Given the description of an element on the screen output the (x, y) to click on. 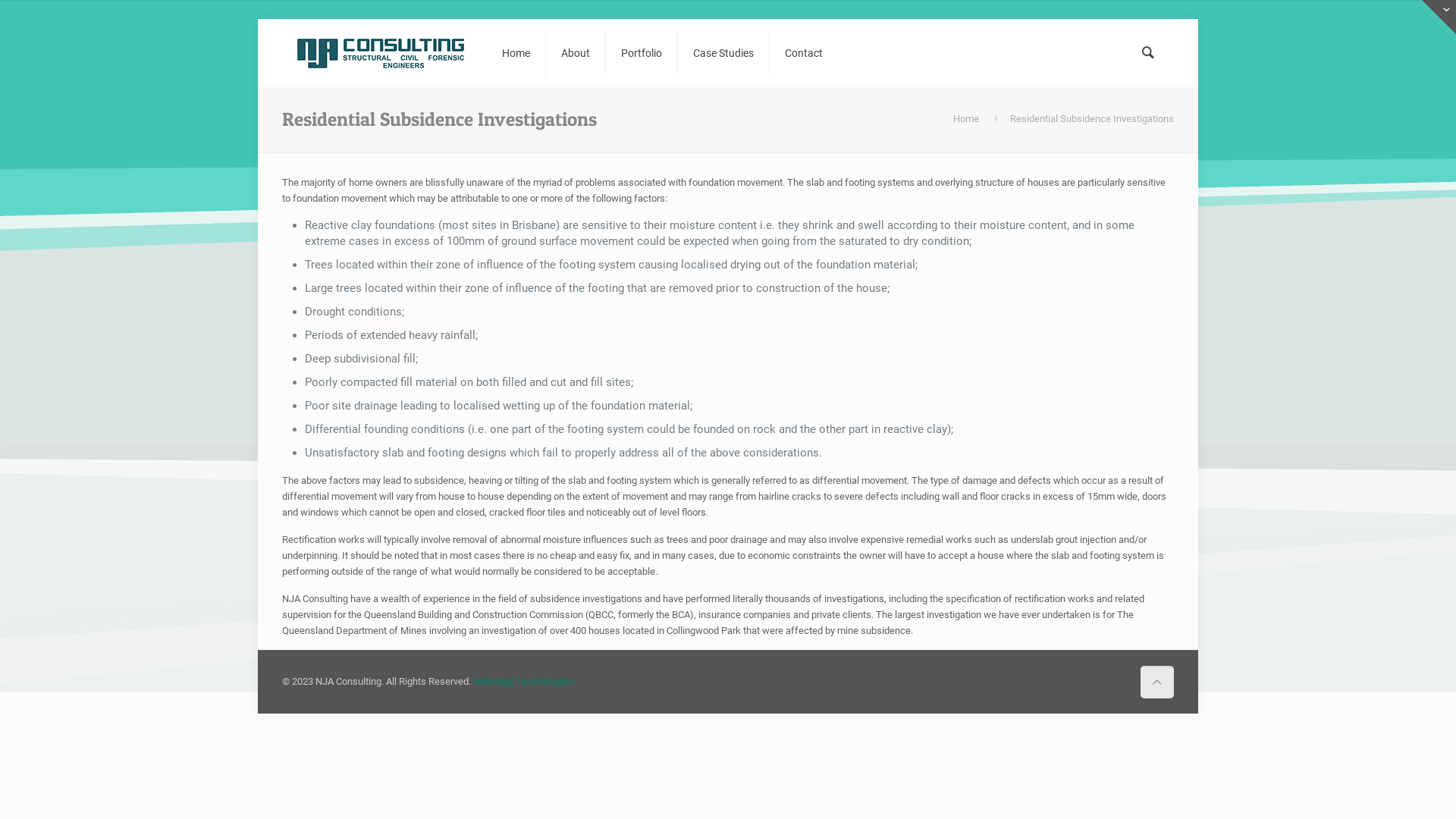
Case Studies Element type: text (723, 52)
Residential Subsidence Investigations Element type: text (1091, 118)
Home Element type: text (516, 52)
About Element type: text (575, 52)
Contact Element type: text (803, 52)
Home Element type: text (966, 118)
Portfolio Element type: text (641, 52)
Web3dge Technologies Element type: text (523, 681)
NJA Consulting Element type: hover (380, 52)
